Given the description of an element on the screen output the (x, y) to click on. 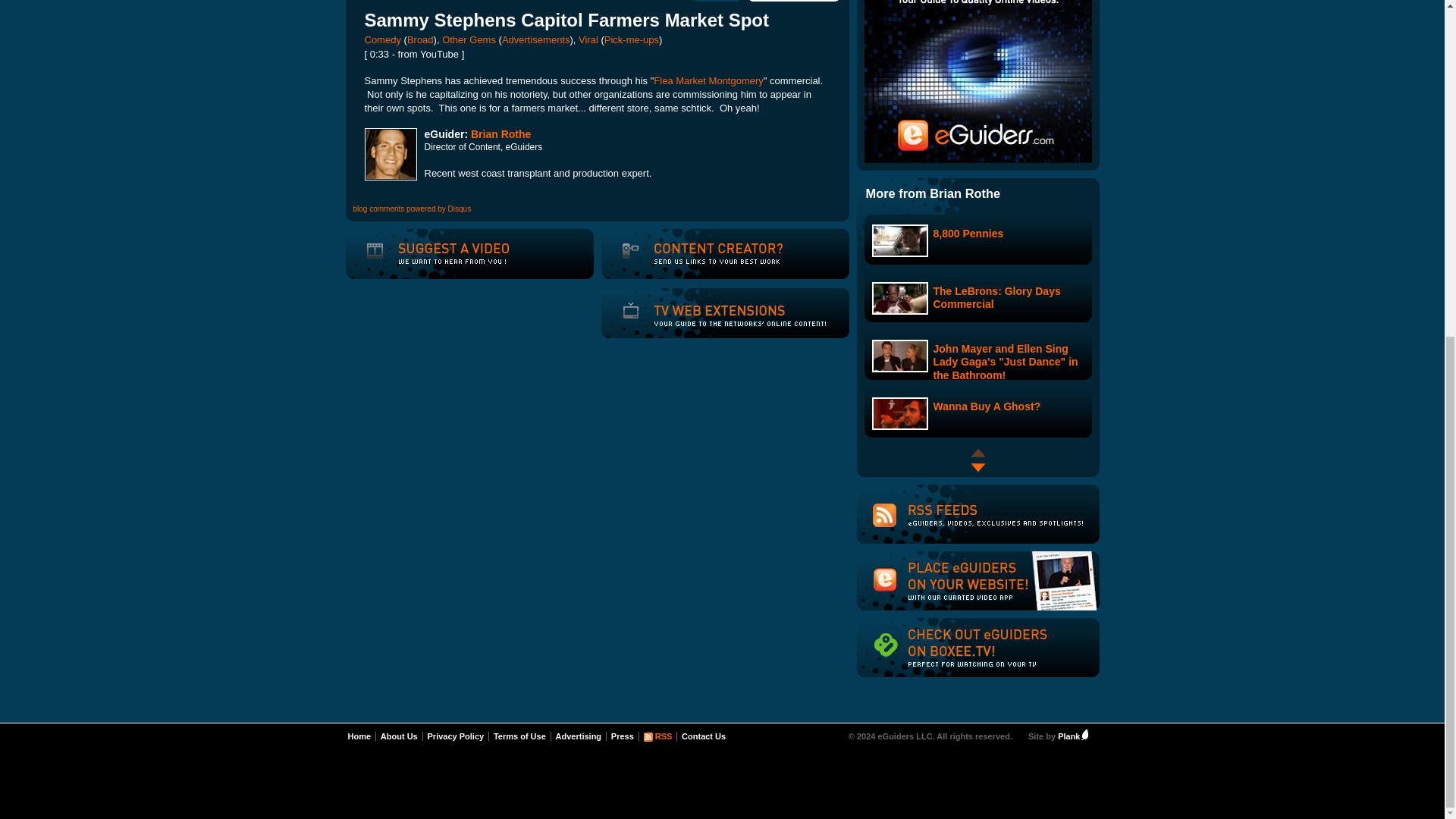
Content Creator (700, 263)
